Given the description of an element on the screen output the (x, y) to click on. 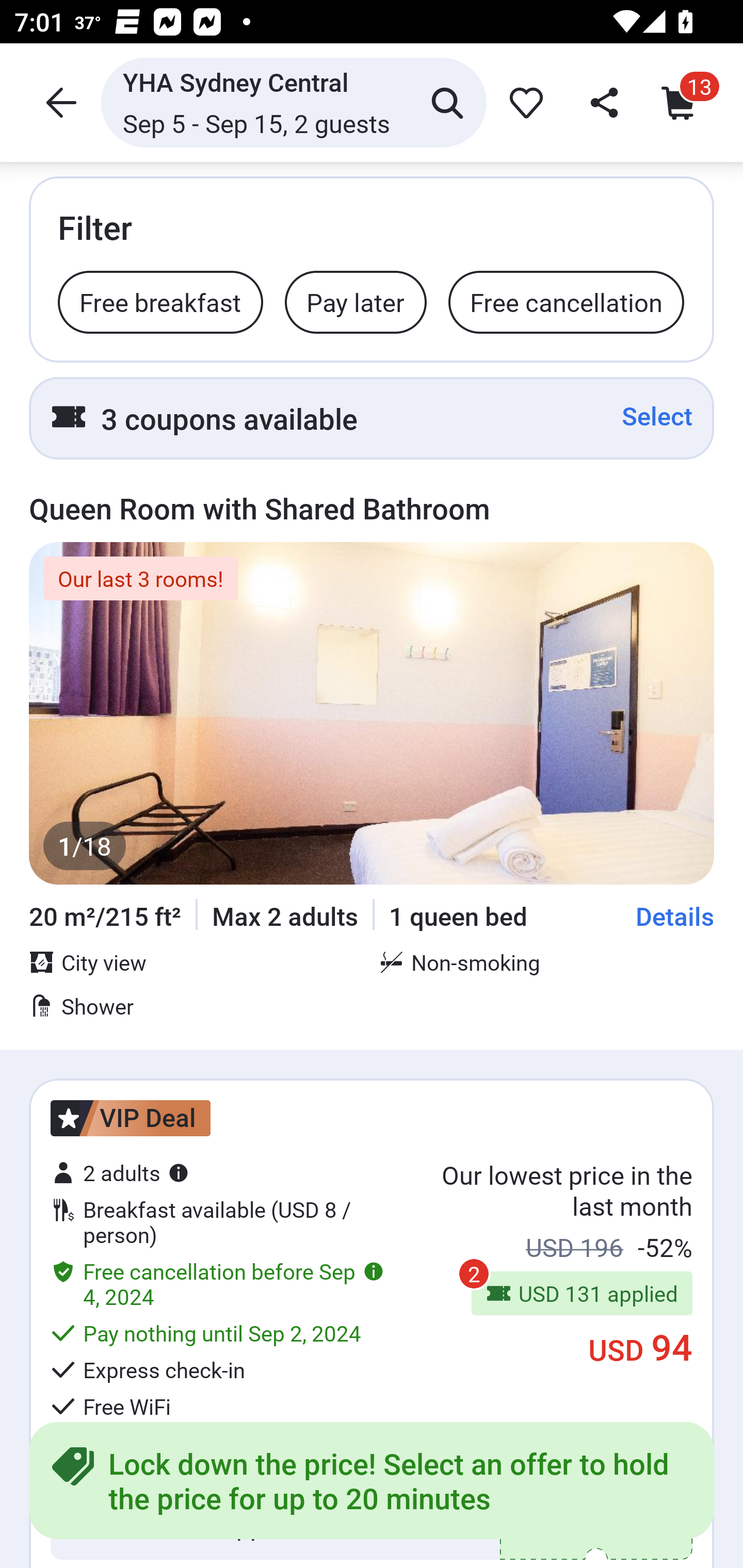
header icon (59, 102)
favorite_icon 0dbe6efb (522, 102)
share_header_icon (601, 102)
Cart icon cart_item_count 13 (683, 102)
Free breakfast (160, 301)
Pay later (355, 301)
Free cancellation (566, 301)
Select (656, 416)
3 coupons available Select (371, 417)
image (371, 713)
Details (674, 916)
Free cancellation before Sep 4, 2024 (217, 1283)
